Given the description of an element on the screen output the (x, y) to click on. 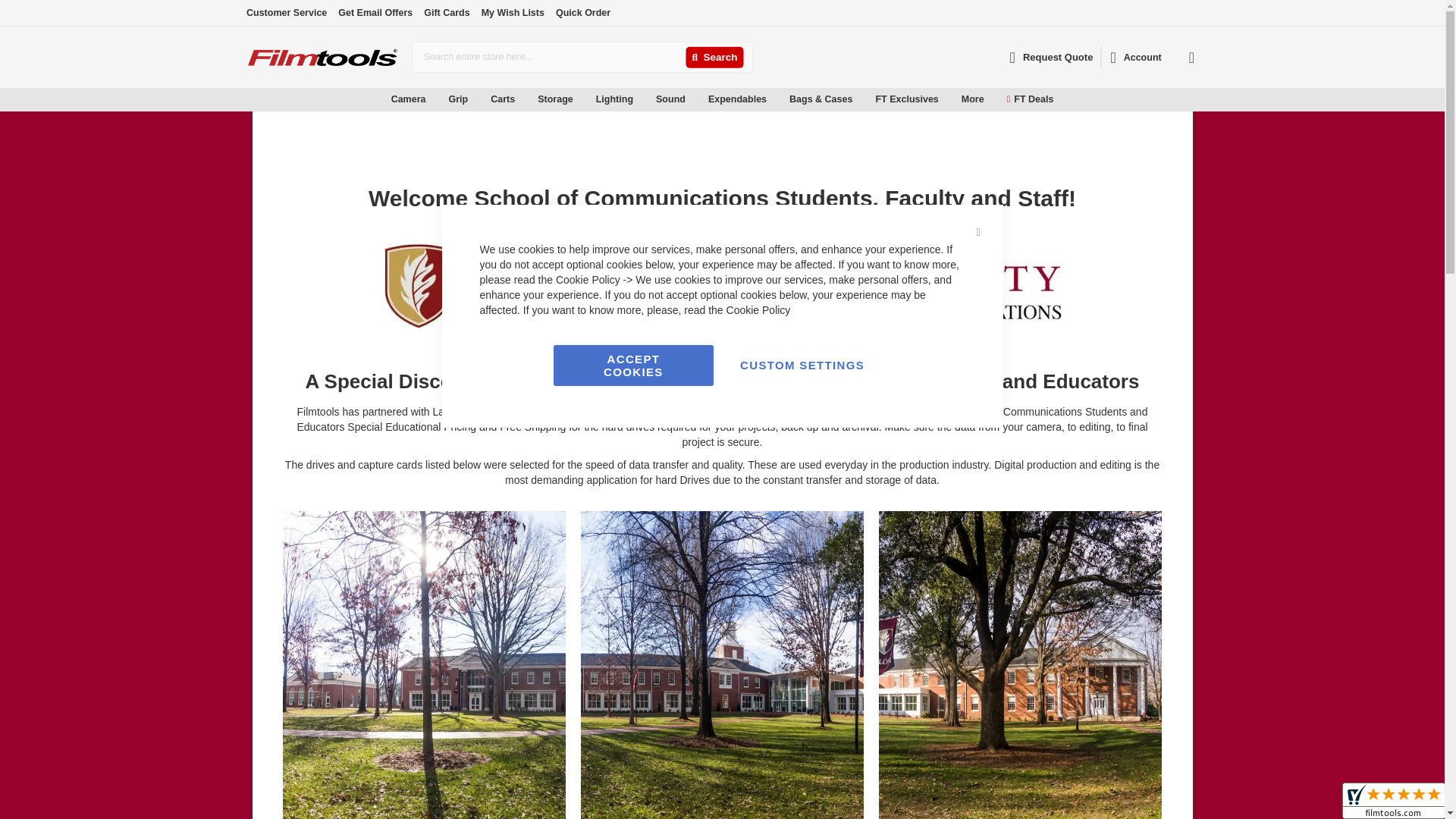
Filmtools (321, 57)
ACCEPT COOKIES (633, 364)
Cookie Policy (758, 309)
Quick Order (583, 12)
Account (1135, 57)
CUSTOM SETTINGS (801, 364)
Get Email Offers (374, 12)
Search (713, 57)
Gift Cards (445, 12)
Cameras (330, 116)
